Given the description of an element on the screen output the (x, y) to click on. 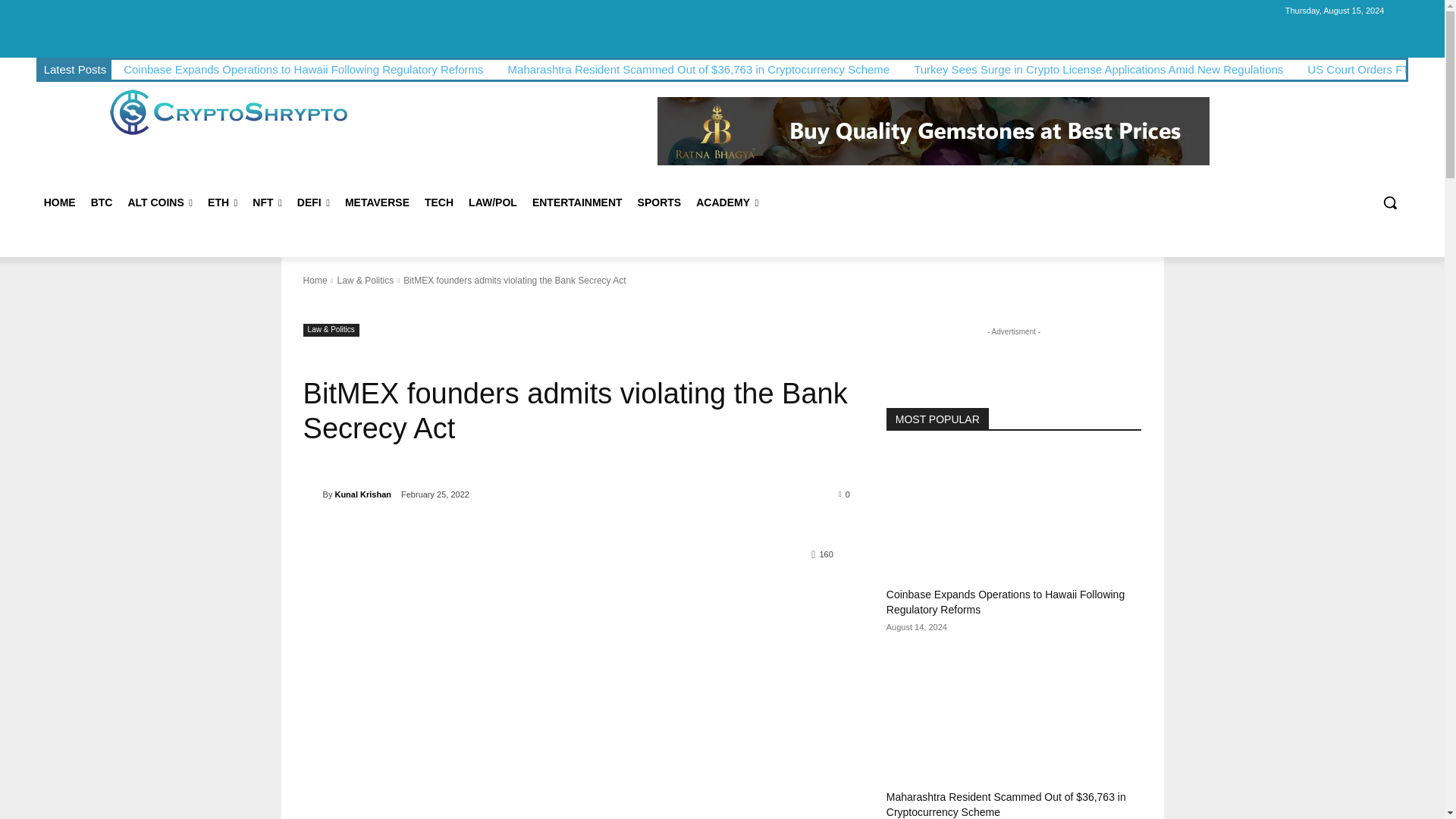
HOME (59, 202)
ALT COINS (159, 202)
BTC (101, 202)
